Given the description of an element on the screen output the (x, y) to click on. 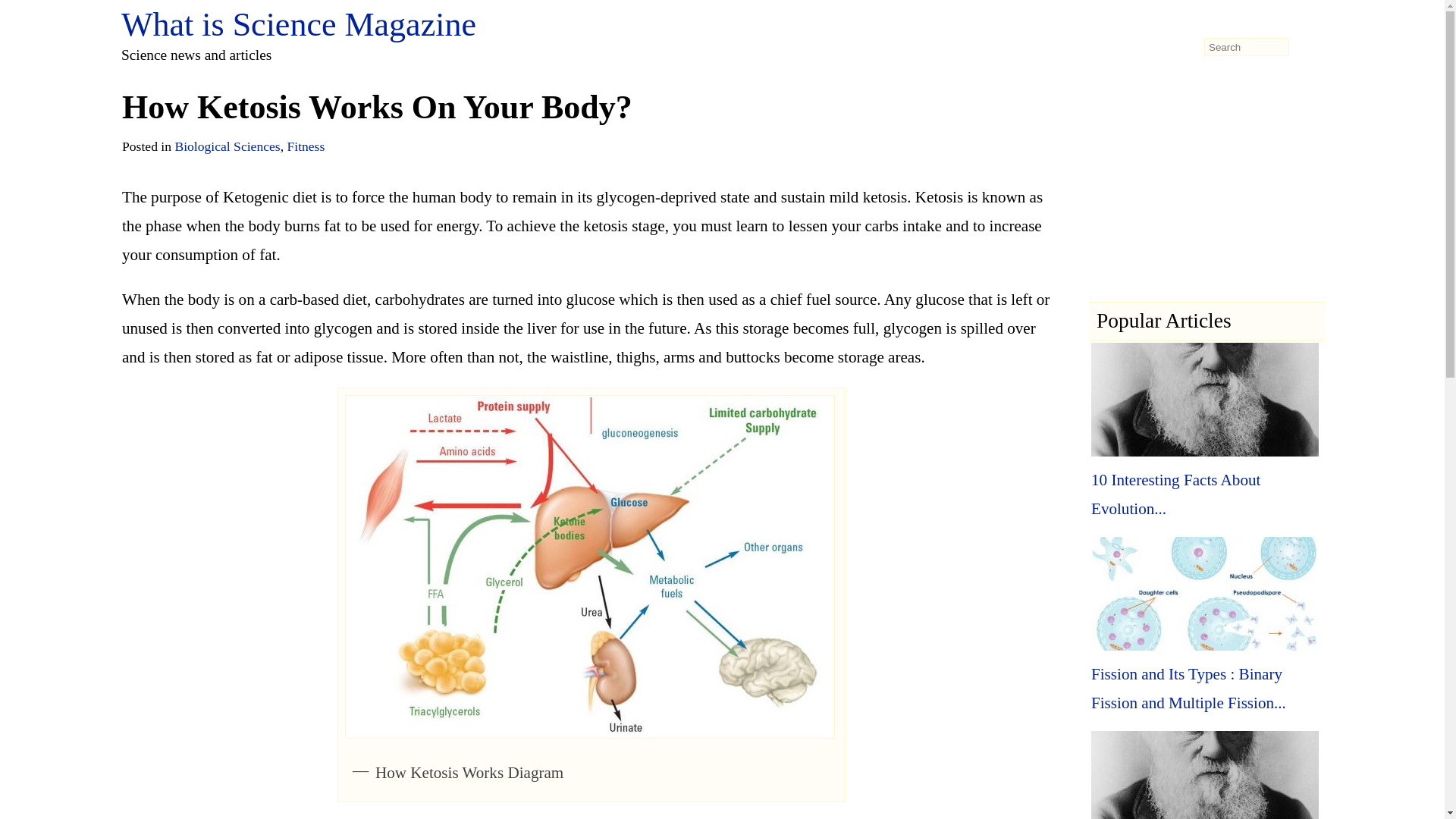
Biological Sciences (226, 145)
What is Science Magazine (298, 24)
10 Interesting Facts About Evolution... (1175, 493)
Fitness (305, 145)
Advertisement (1205, 205)
